Given the description of an element on the screen output the (x, y) to click on. 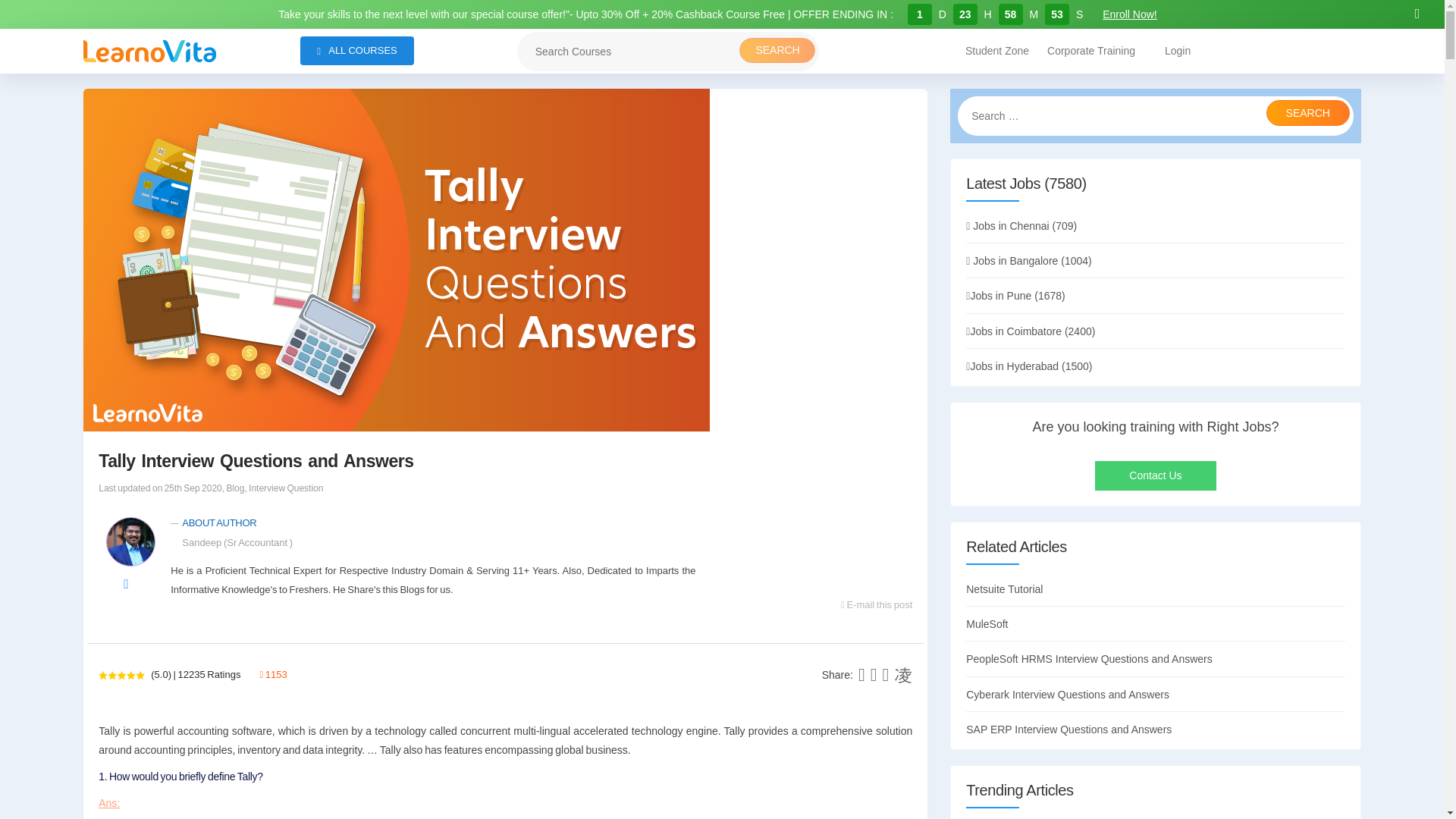
Twitter (873, 674)
Search (1307, 112)
Search (1307, 112)
ALL COURSES (356, 50)
Facebook (861, 674)
